Given the description of an element on the screen output the (x, y) to click on. 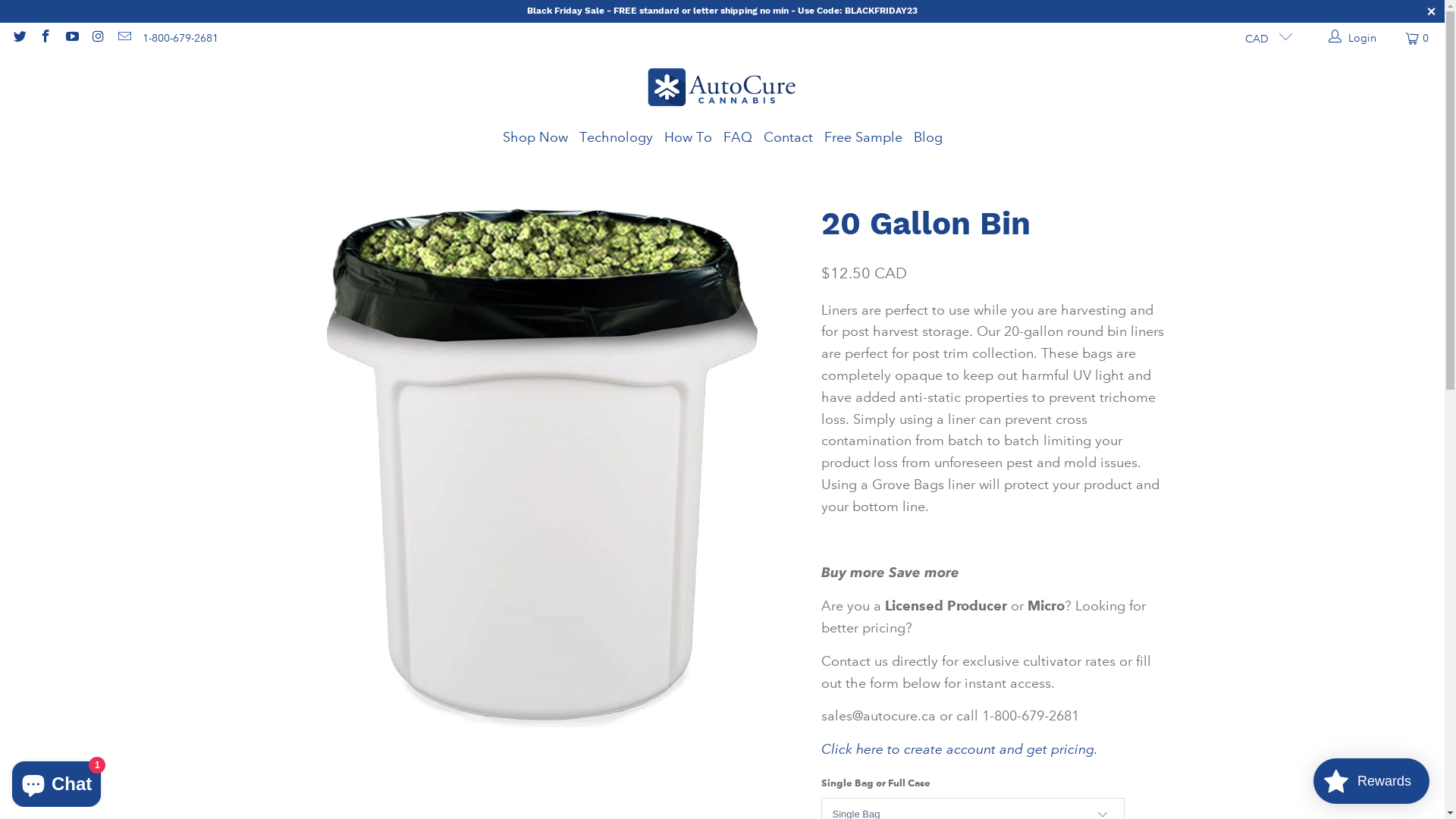
Login Element type: text (1353, 37)
Email AutoCure Cannabis Element type: hover (123, 37)
0 Element type: text (1417, 37)
AutoCure Cannabis Element type: hover (722, 88)
Shop Now Element type: text (534, 137)
1-800-679-2681 Element type: text (180, 37)
Click here to create account and get pricing. Element type: text (958, 748)
Blog Element type: text (927, 137)
AutoCure Cannabis on Twitter Element type: hover (18, 37)
AutoCure Cannabis on Facebook Element type: hover (45, 37)
Shopify online store chat Element type: hover (56, 780)
AutoCure Cannabis on YouTube Element type: hover (70, 37)
Contact Element type: text (787, 137)
CAD Element type: text (1262, 37)
AutoCure Cannabis on Instagram Element type: hover (97, 37)
FAQ Element type: text (737, 137)
Technology Element type: text (615, 137)
How To Element type: text (688, 137)
Free Sample Element type: text (862, 137)
